Given the description of an element on the screen output the (x, y) to click on. 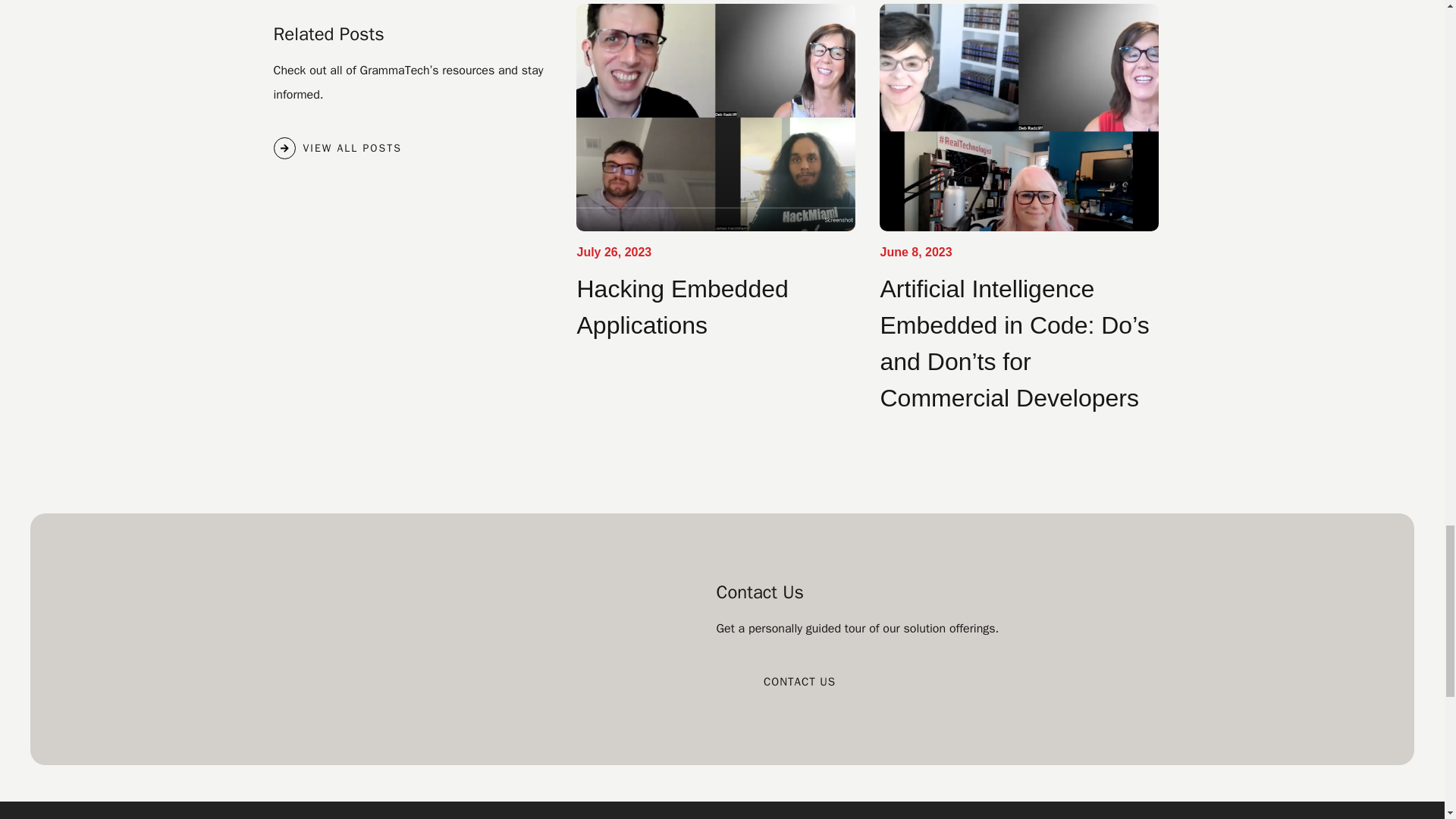
VIEW ALL POSTS (337, 147)
Hacking Embedded Applications (681, 307)
CONTACT US (799, 681)
